Given the description of an element on the screen output the (x, y) to click on. 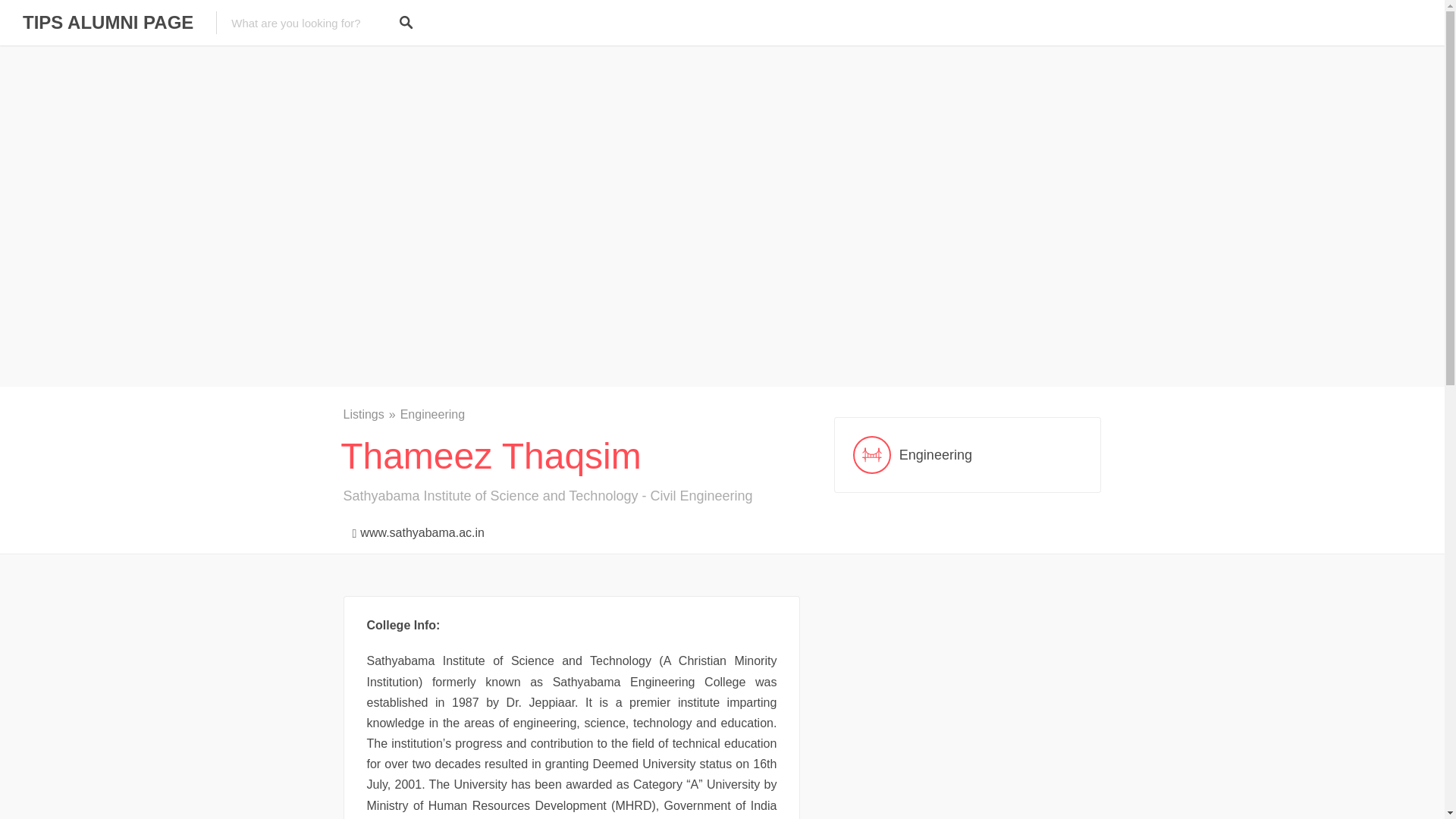
Listings (370, 414)
TIPS ALUMNI PAGE (108, 22)
Engineering (967, 454)
www.sathyabama.ac.in (412, 529)
Engineering (432, 414)
